Given the description of an element on the screen output the (x, y) to click on. 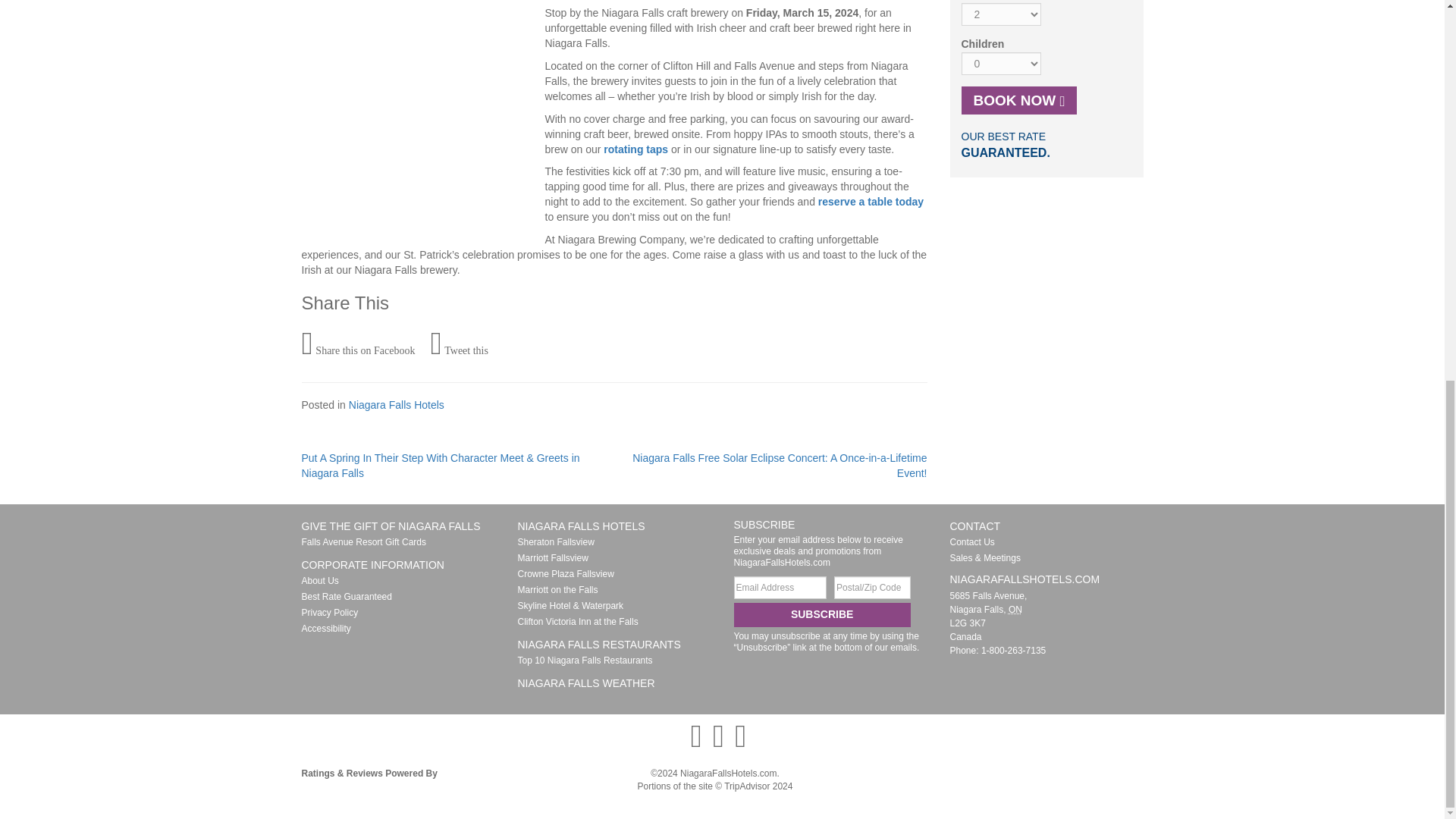
Share this post on Twitter (458, 343)
Ontario (1015, 609)
Share this post on Facebook (357, 343)
